Given the description of an element on the screen output the (x, y) to click on. 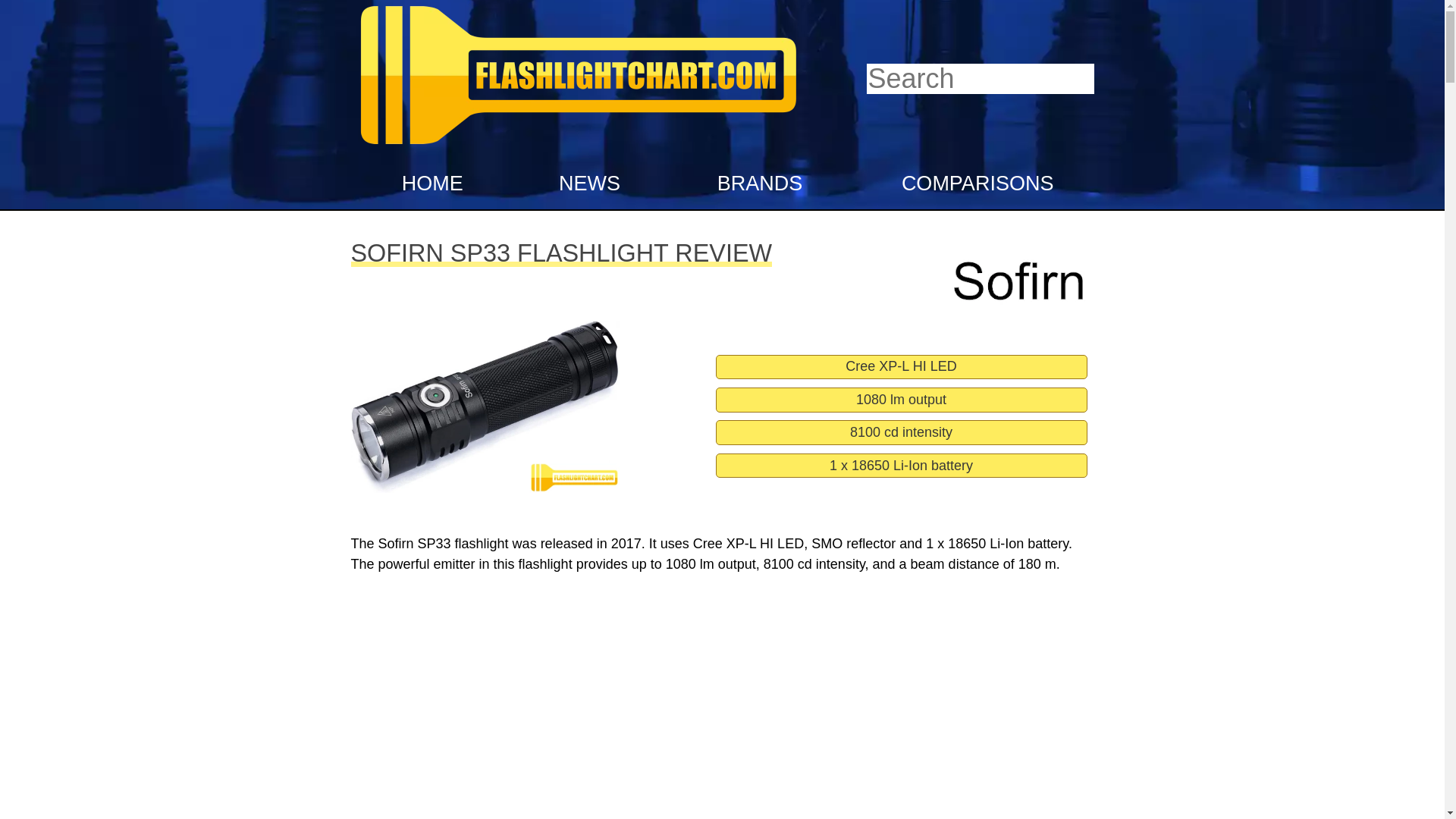
BRANDS (755, 183)
Flashlight brands (755, 183)
Popular comparisons (969, 183)
HOME (429, 183)
NEWS (586, 183)
Sofirn flashlights (1013, 287)
FlashlightChart.com Home (577, 146)
Home (429, 183)
Flashlight news (586, 183)
COMPARISONS (969, 183)
